Given the description of an element on the screen output the (x, y) to click on. 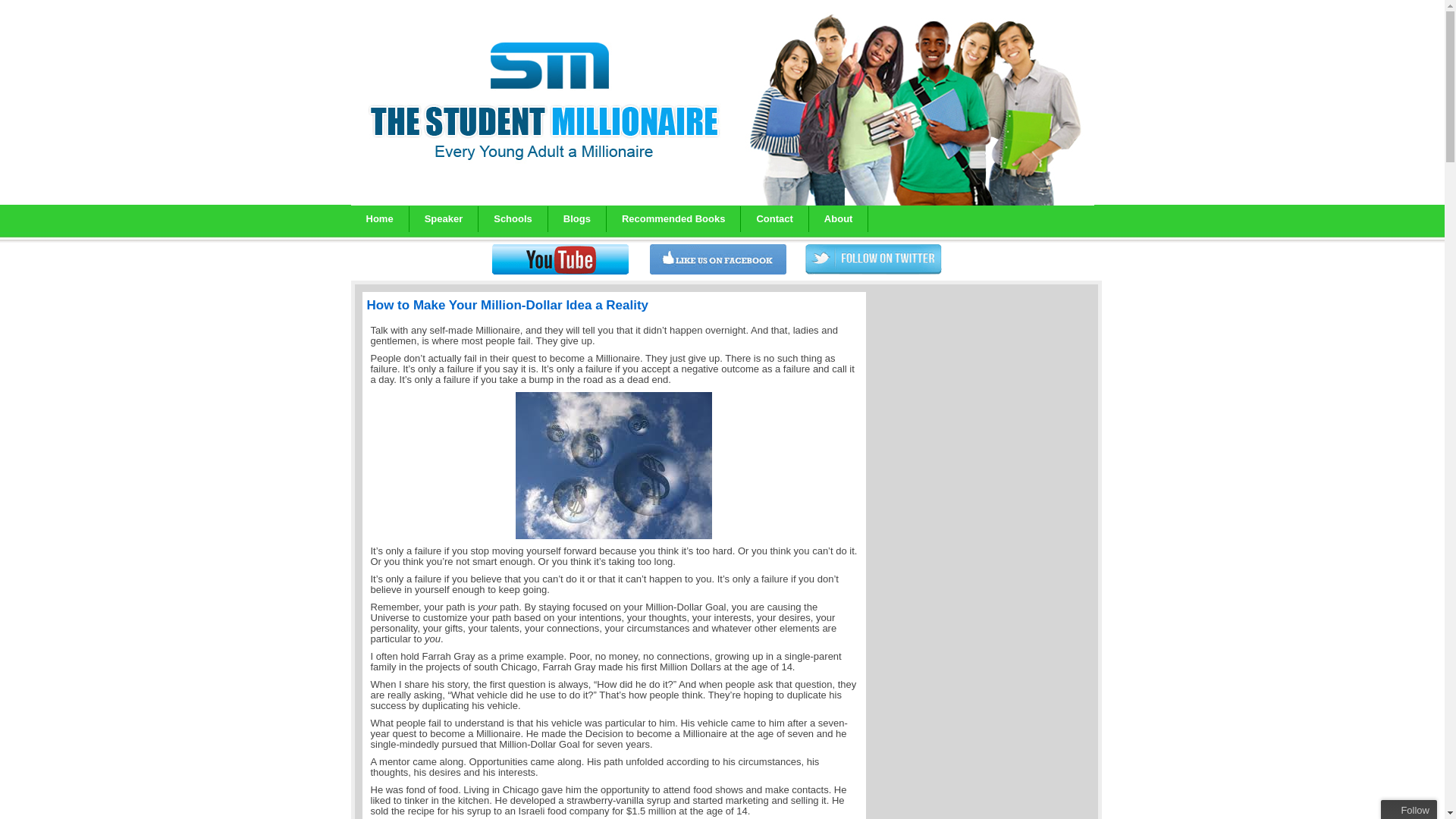
About (839, 218)
Blogs (577, 218)
Recommended Books (674, 218)
Schools (513, 218)
Home (379, 218)
Contact (774, 218)
Speaker (444, 218)
